Given the description of an element on the screen output the (x, y) to click on. 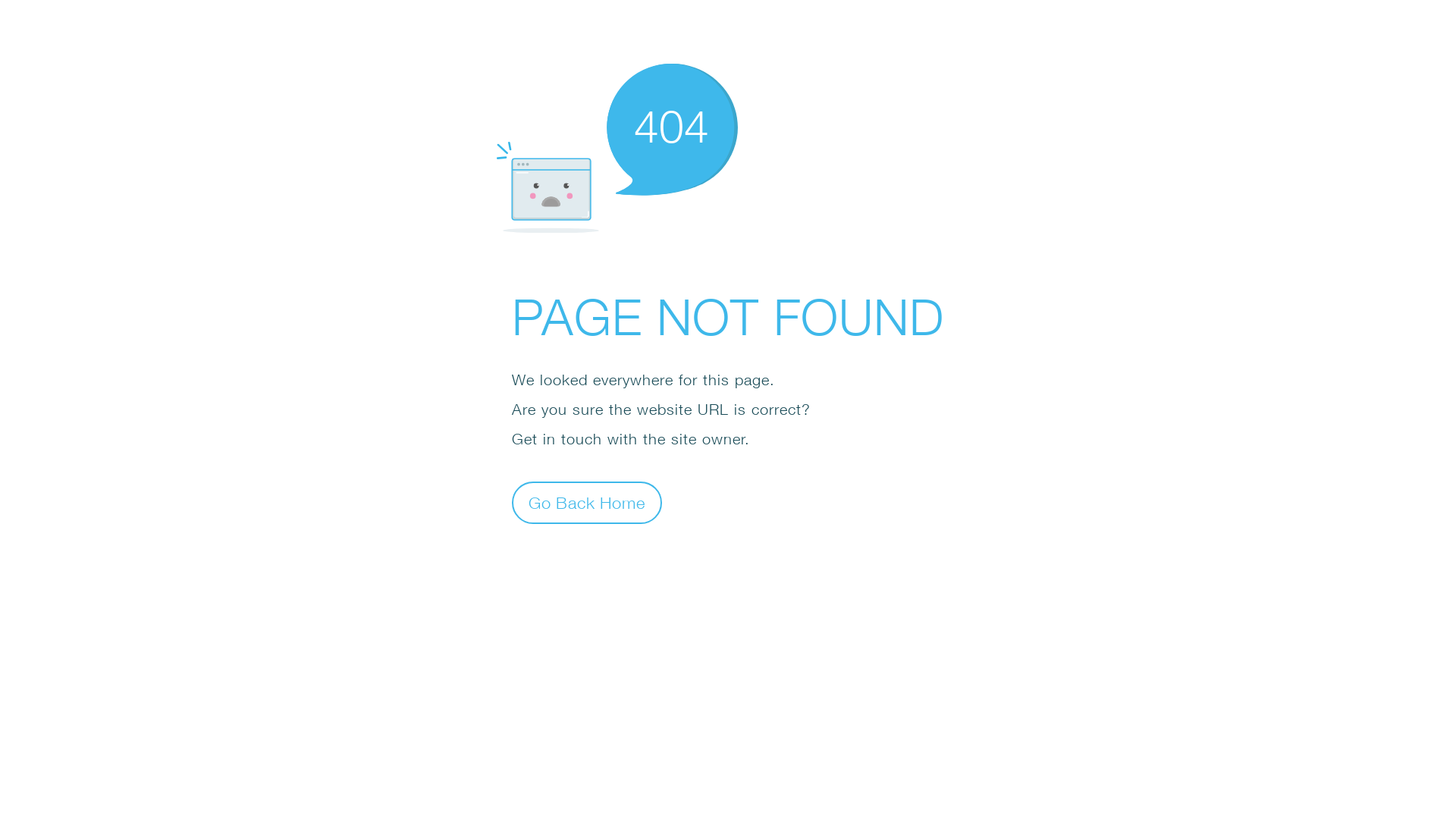
Go Back Home Element type: text (586, 502)
